Given the description of an element on the screen output the (x, y) to click on. 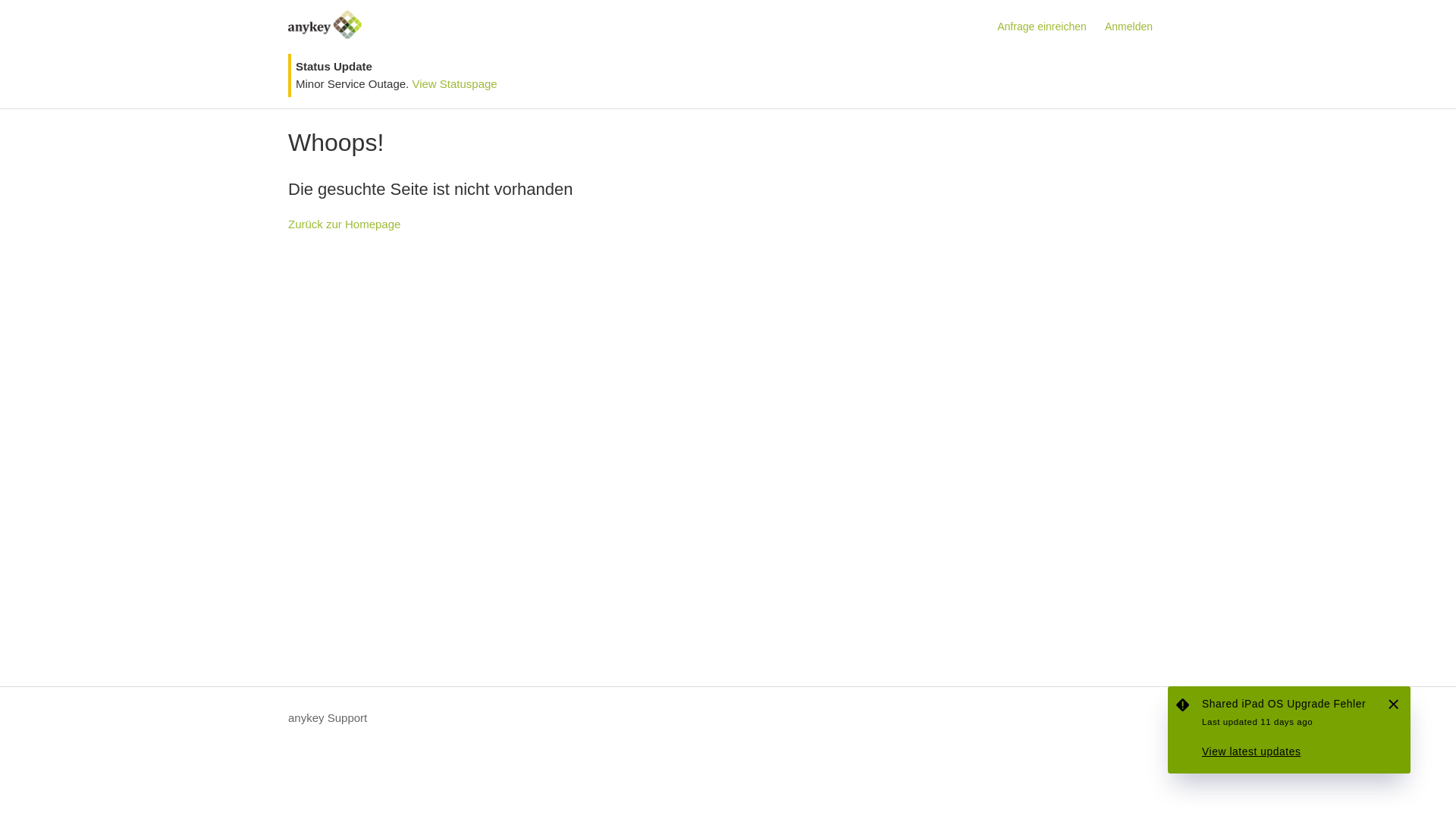
View Statuspage Element type: text (453, 83)
anykey Support Element type: text (327, 718)
anykey  Status Status Element type: hover (1288, 729)
Anmelden Element type: text (1135, 26)
Anfrage einreichen Element type: text (1049, 26)
